Given the description of an element on the screen output the (x, y) to click on. 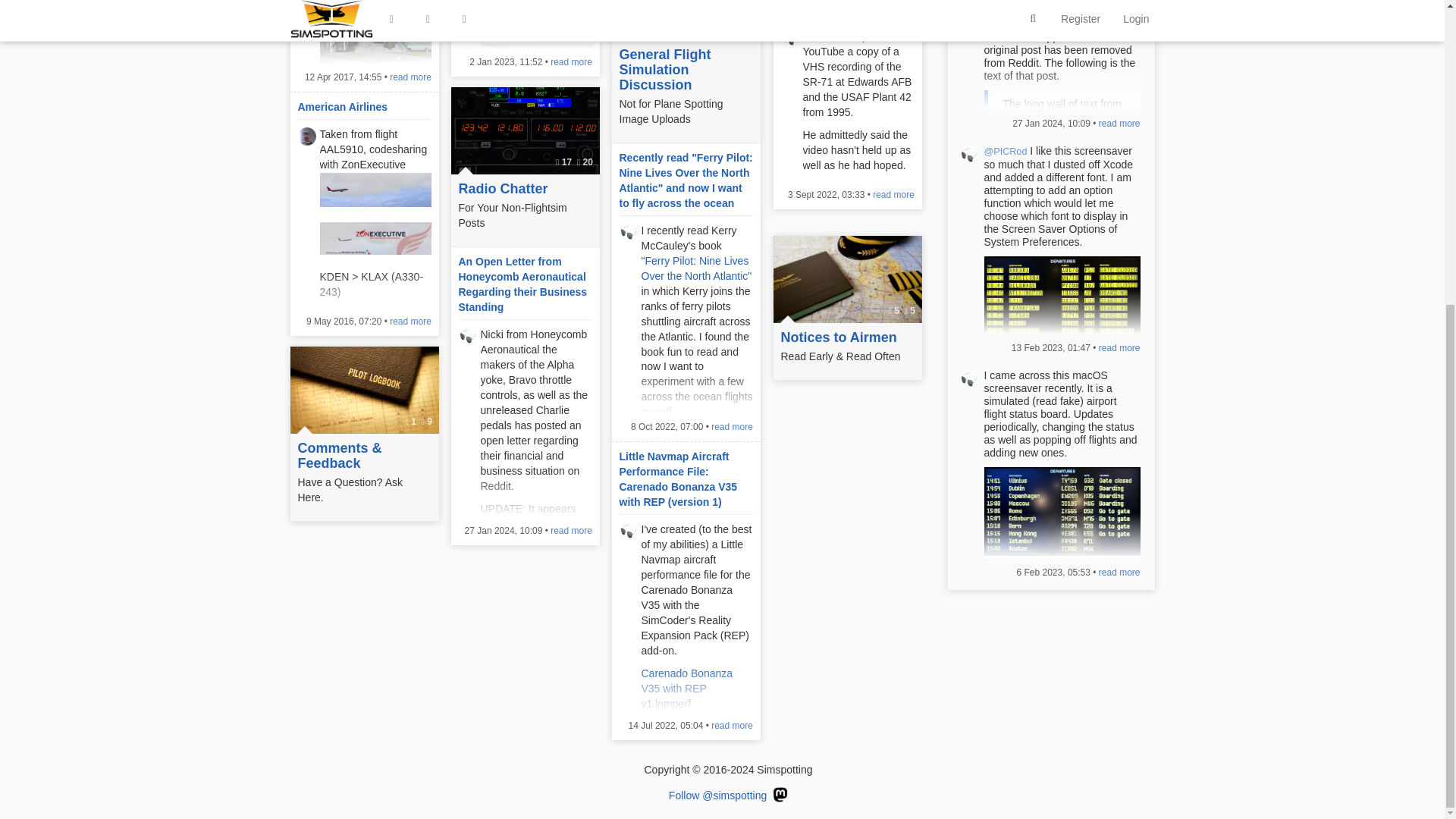
read more (571, 61)
read more (893, 194)
General Flight Simulation Discussion (685, 69)
Archive Footage: SR-71 from 1995 (840, 7)
American Airlines (342, 106)
23  25 (685, 20)
read more (410, 321)
9 May 2016, 07:20 (343, 321)
read more (410, 77)
